Given the description of an element on the screen output the (x, y) to click on. 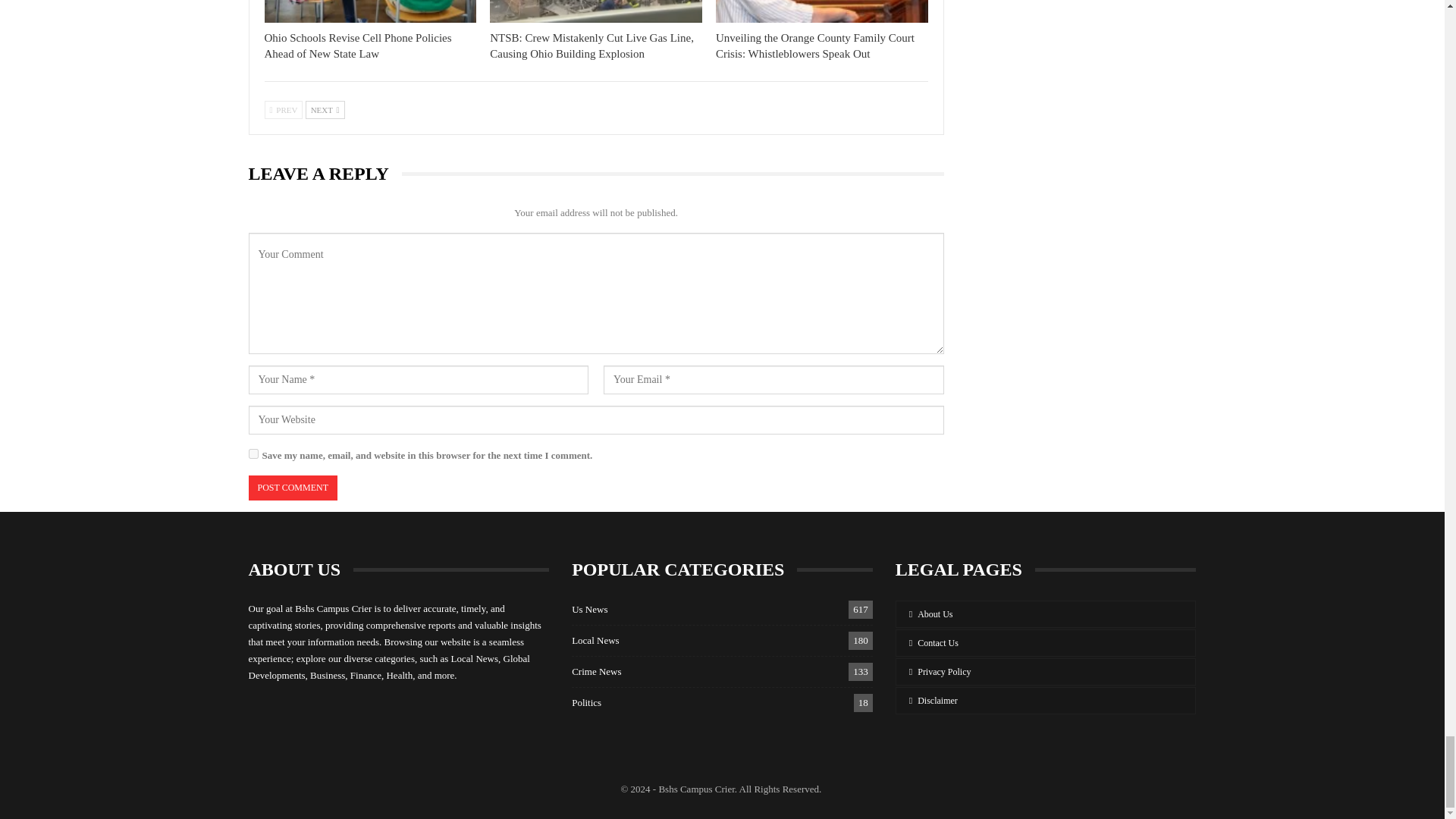
Post Comment (292, 487)
Next (325, 109)
Previous (282, 109)
yes (253, 453)
